Given the description of an element on the screen output the (x, y) to click on. 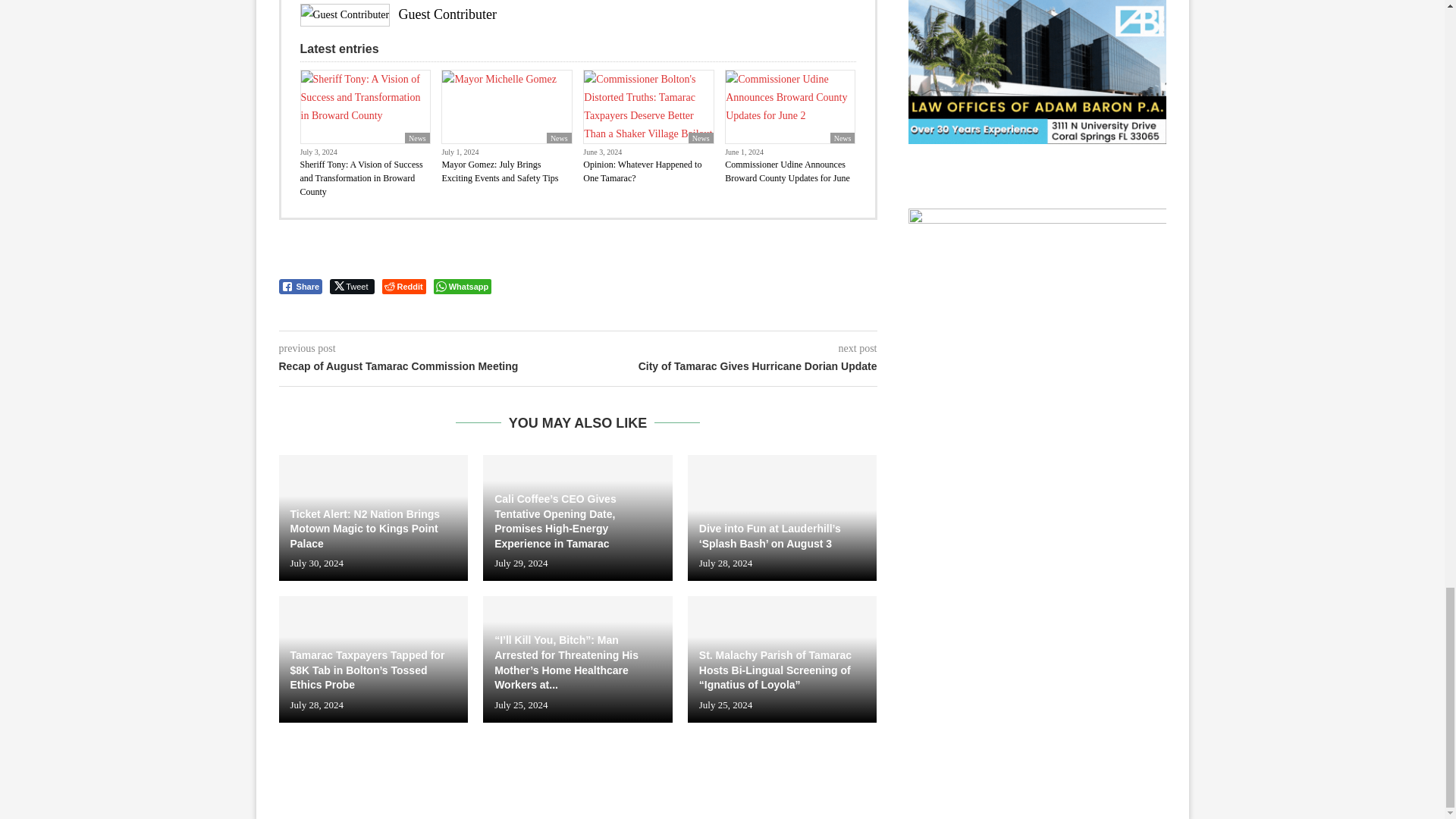
Opinion: Whatever Happened to One Tamarac? 4 (648, 106)
Mayor Gomez: July Brings Exciting Events and Safety Tips 3 (506, 106)
